Given the description of an element on the screen output the (x, y) to click on. 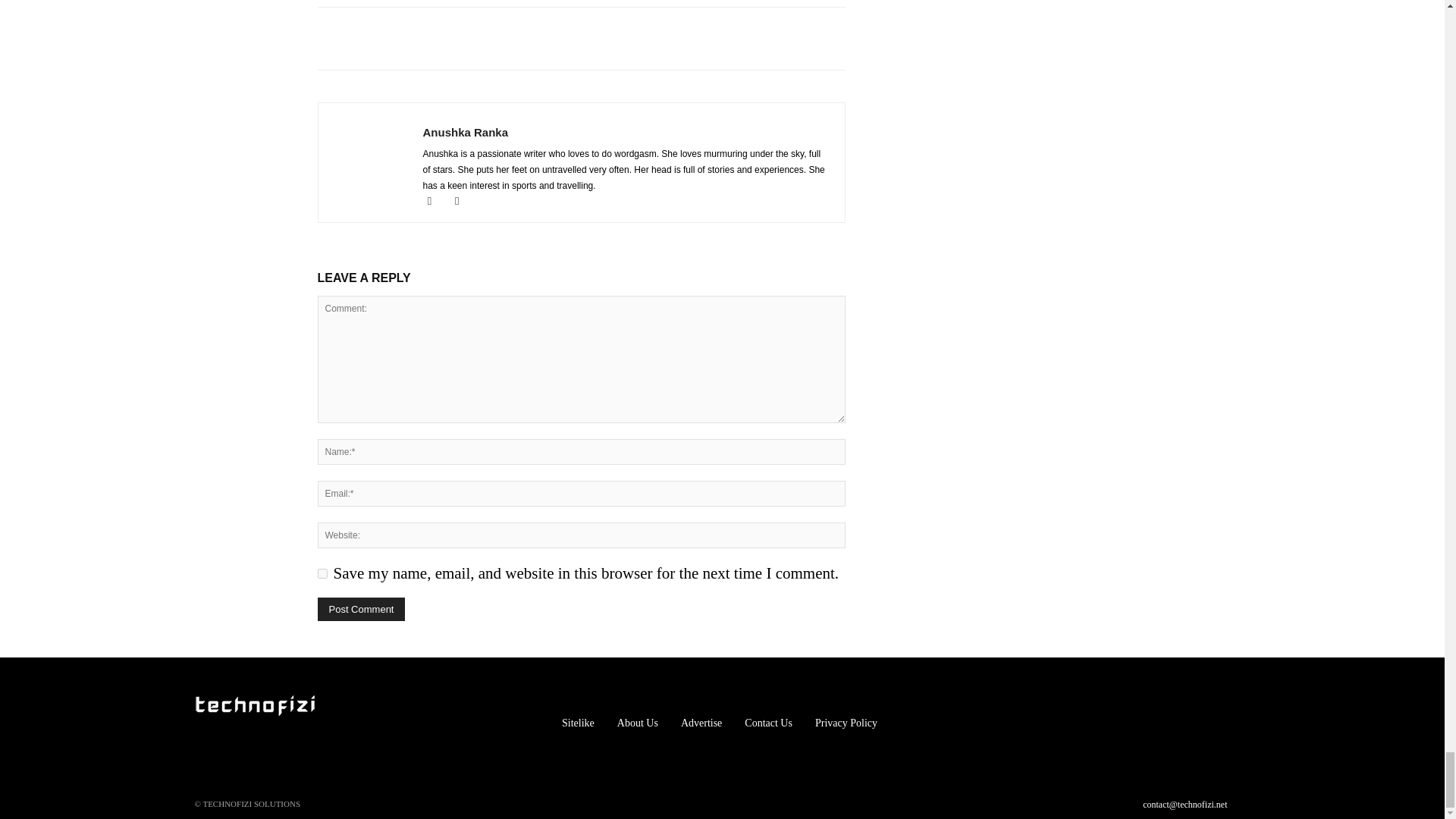
yes (321, 573)
Post Comment (360, 608)
